Given the description of an element on the screen output the (x, y) to click on. 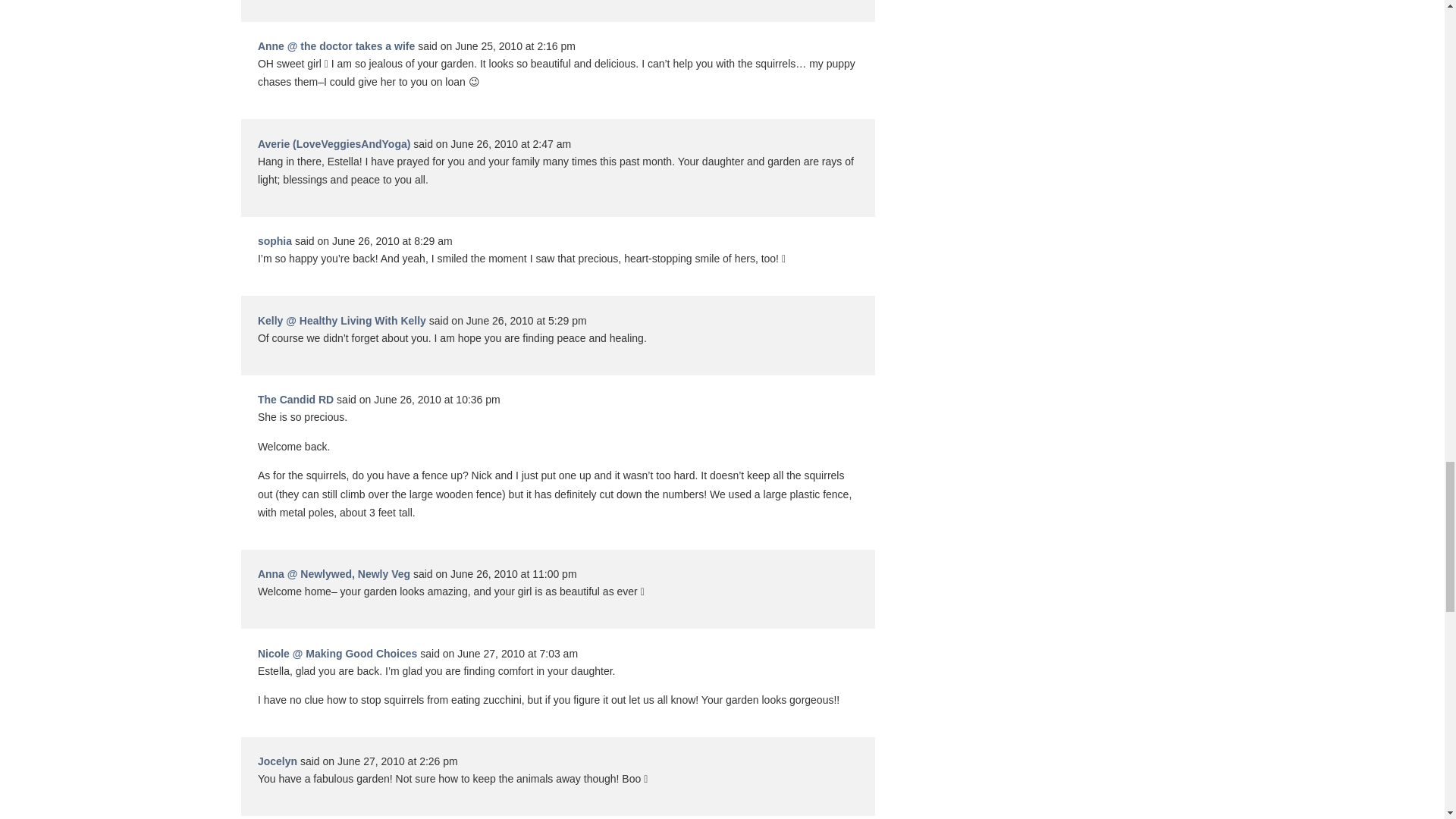
Jocelyn (277, 761)
The Candid RD (295, 399)
sophia (274, 241)
